Given the description of an element on the screen output the (x, y) to click on. 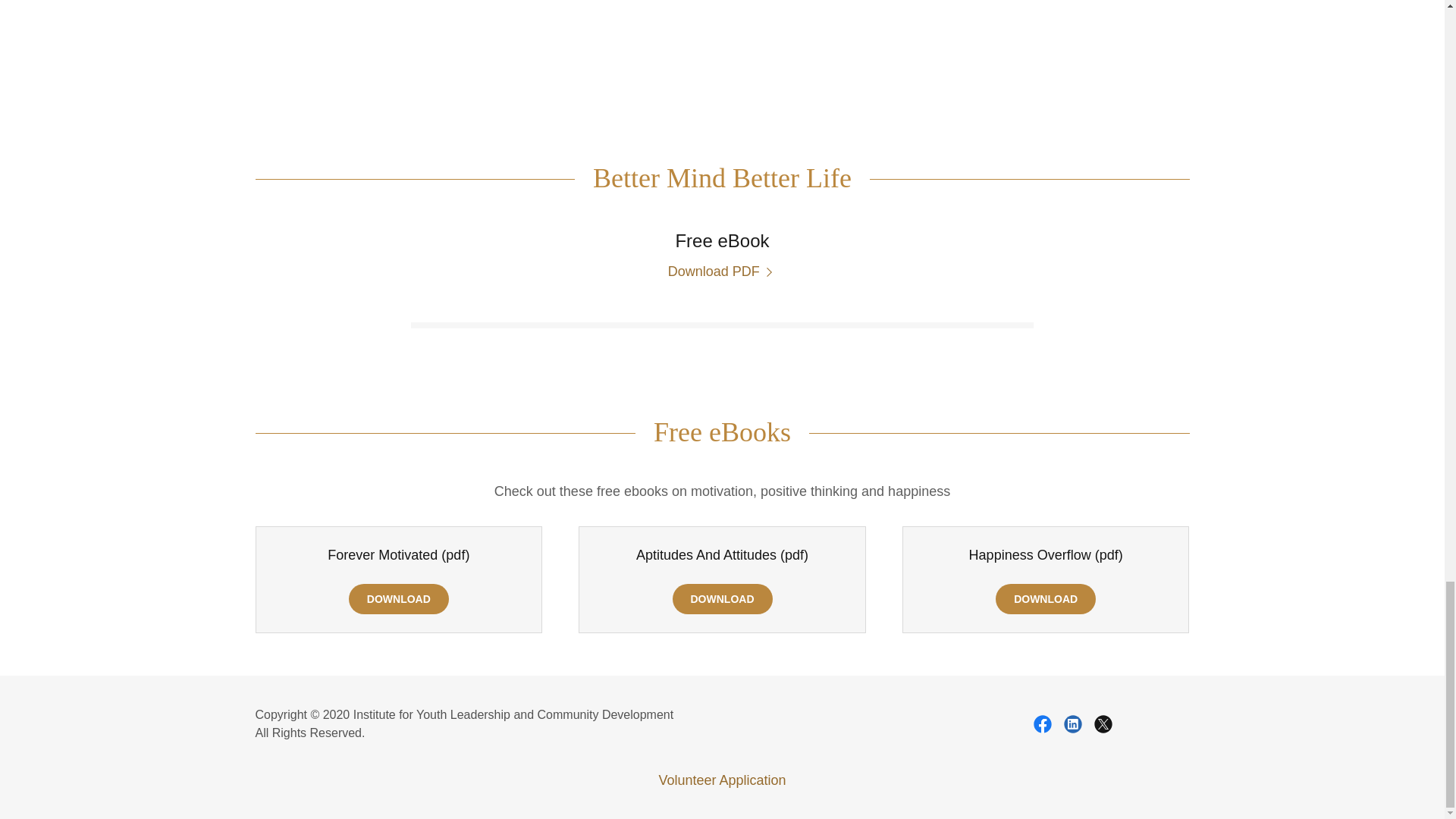
Download PDF (722, 271)
